Given the description of an element on the screen output the (x, y) to click on. 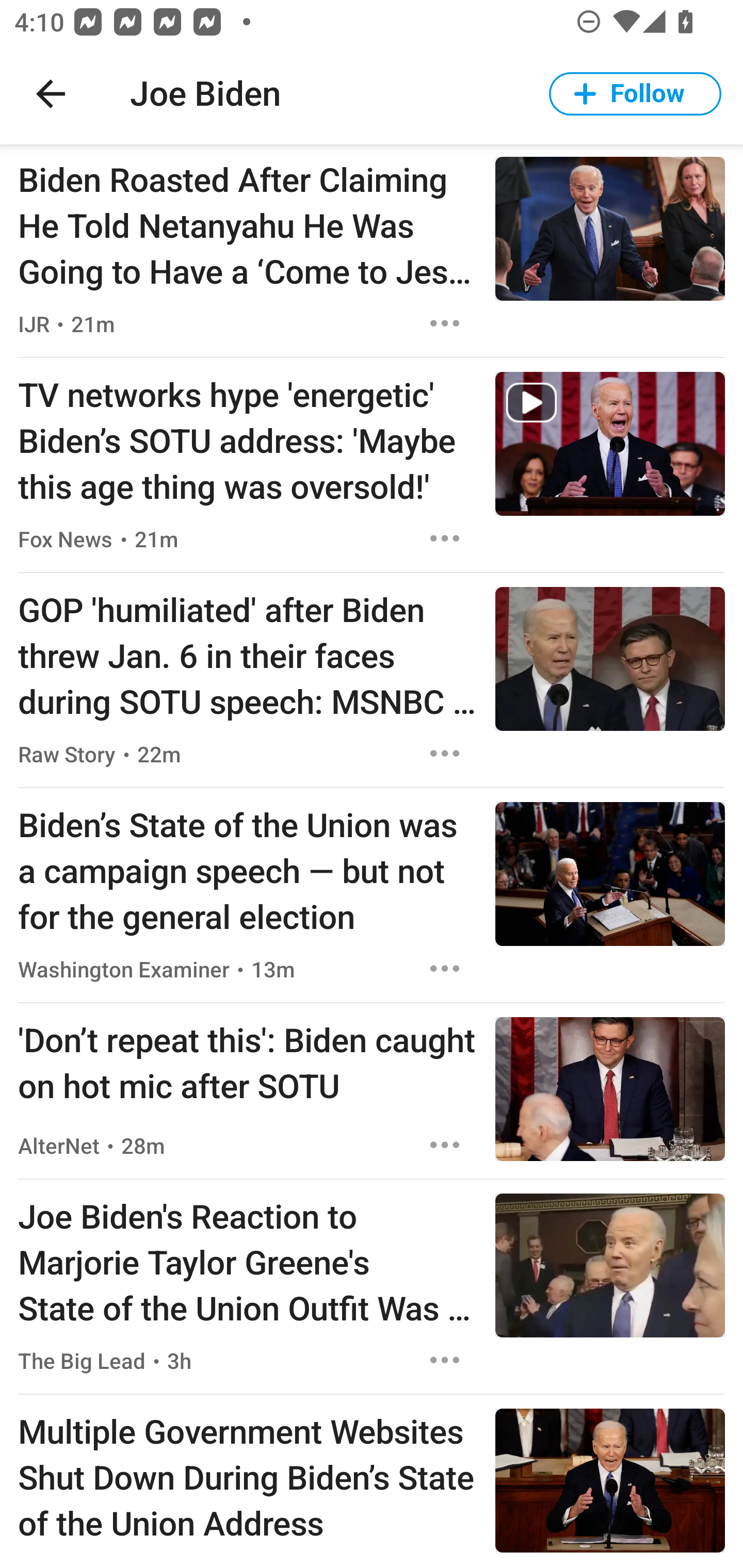
Navigate up (50, 93)
Follow (635, 94)
Options (444, 322)
Options (444, 538)
Options (444, 753)
Options (444, 968)
Options (444, 1144)
Options (444, 1360)
